Given the description of an element on the screen output the (x, y) to click on. 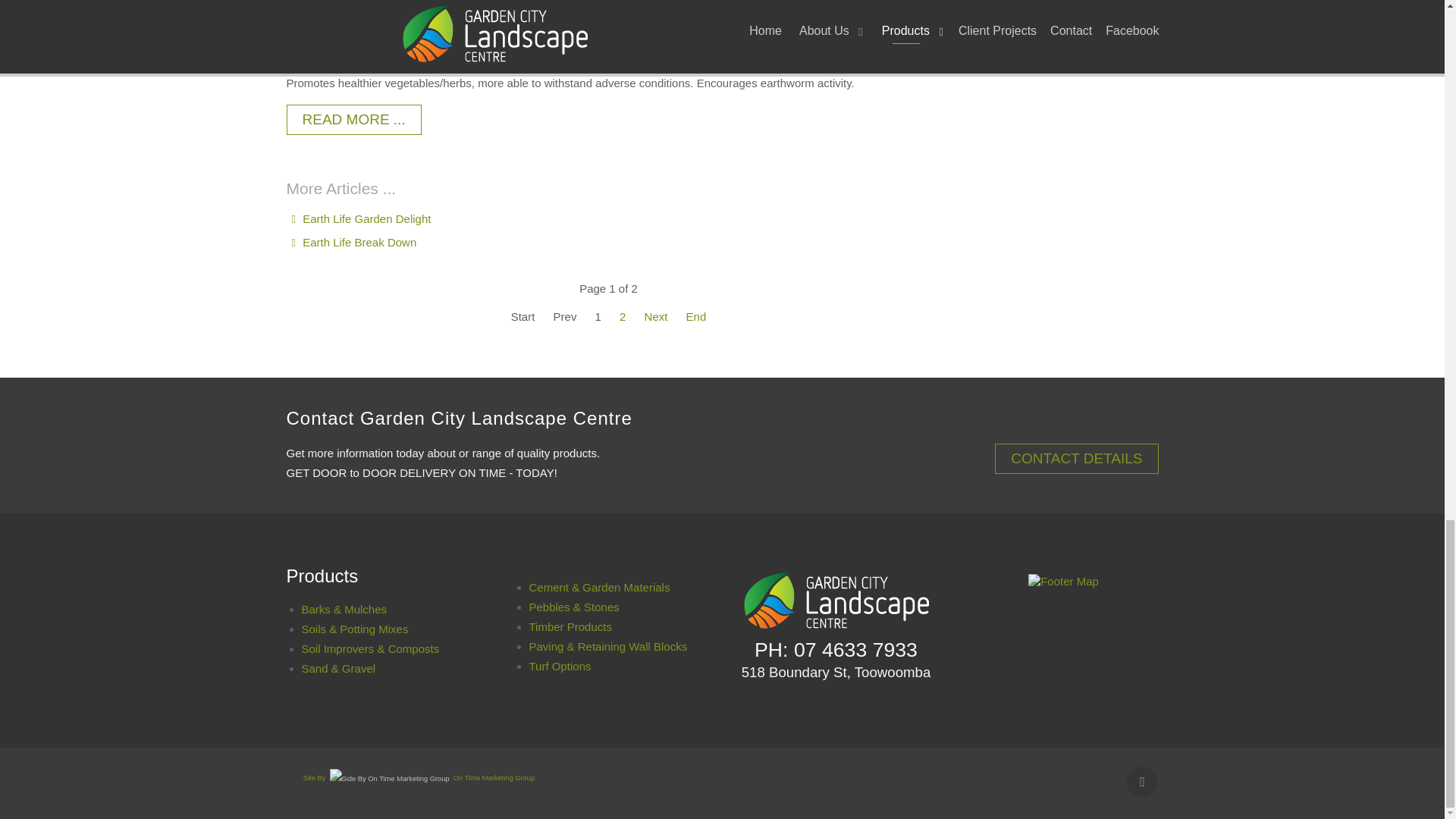
READ MORE ... (354, 119)
End (695, 316)
Earth Life Break Down (352, 241)
Next (656, 316)
Earth Life Garden Delight (359, 218)
